Given the description of an element on the screen output the (x, y) to click on. 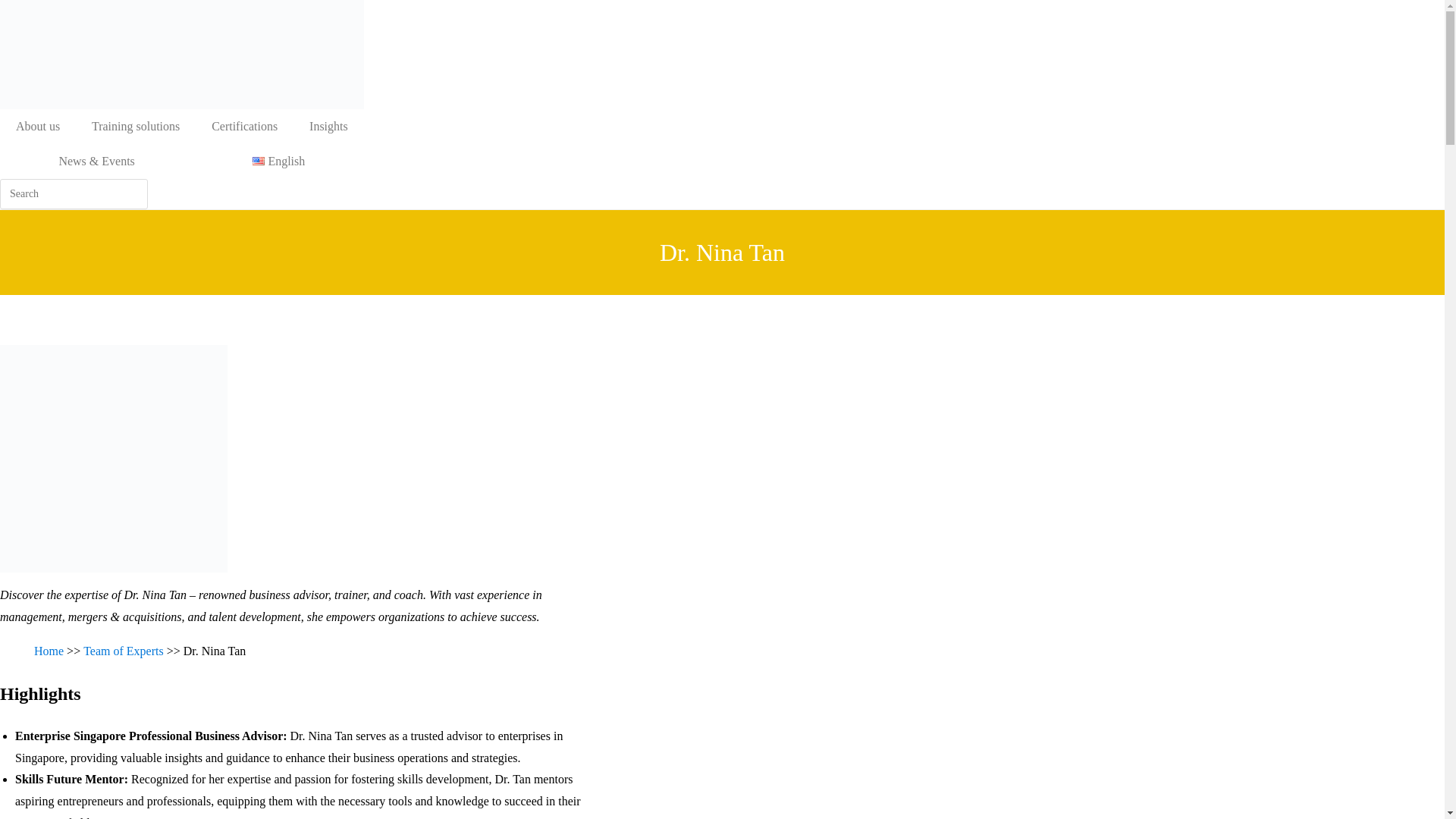
English (277, 161)
Training solutions (135, 126)
Insights (329, 126)
Certifications (244, 126)
About us (37, 126)
